Given the description of an element on the screen output the (x, y) to click on. 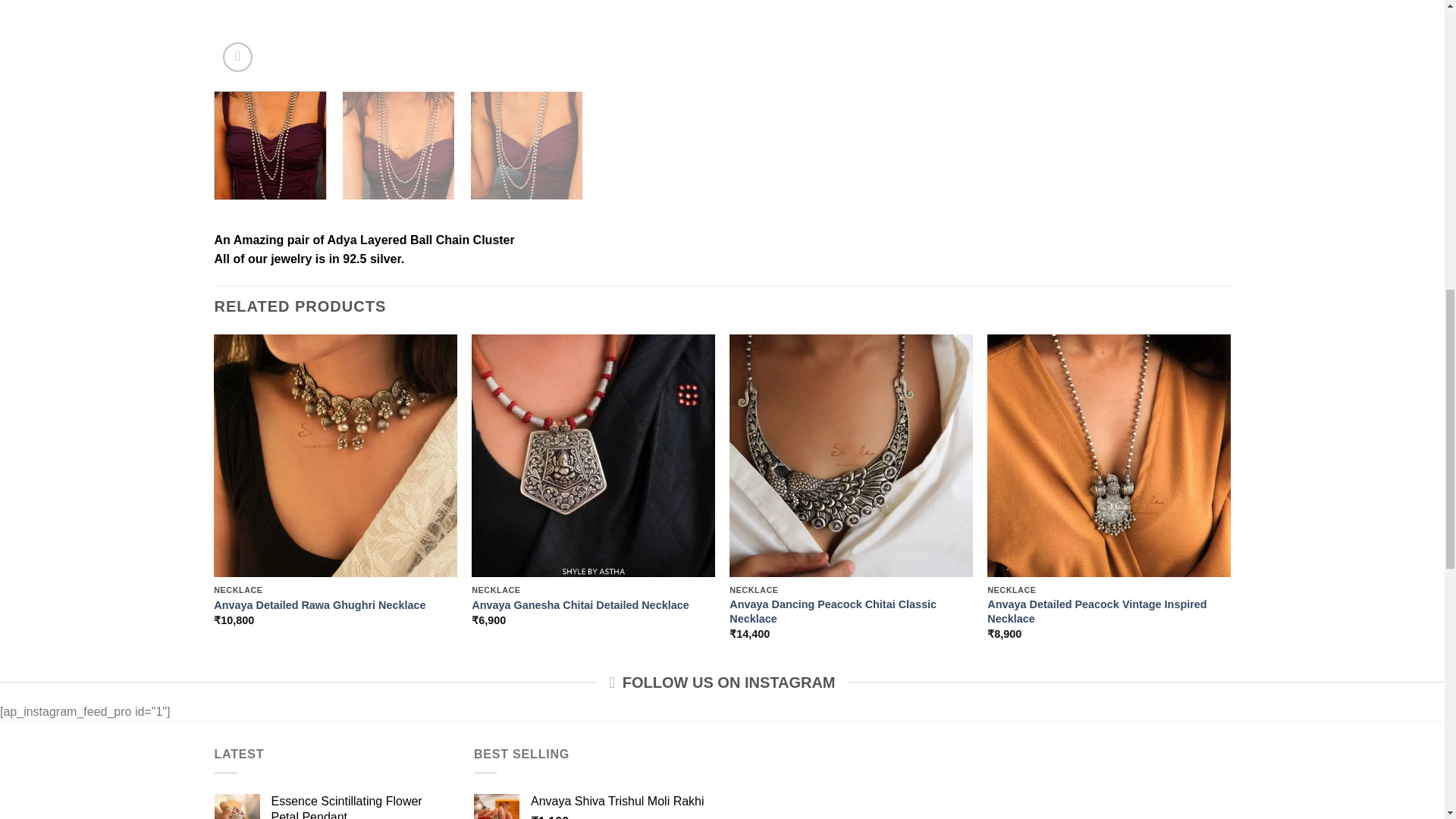
Zoom (236, 57)
